Given the description of an element on the screen output the (x, y) to click on. 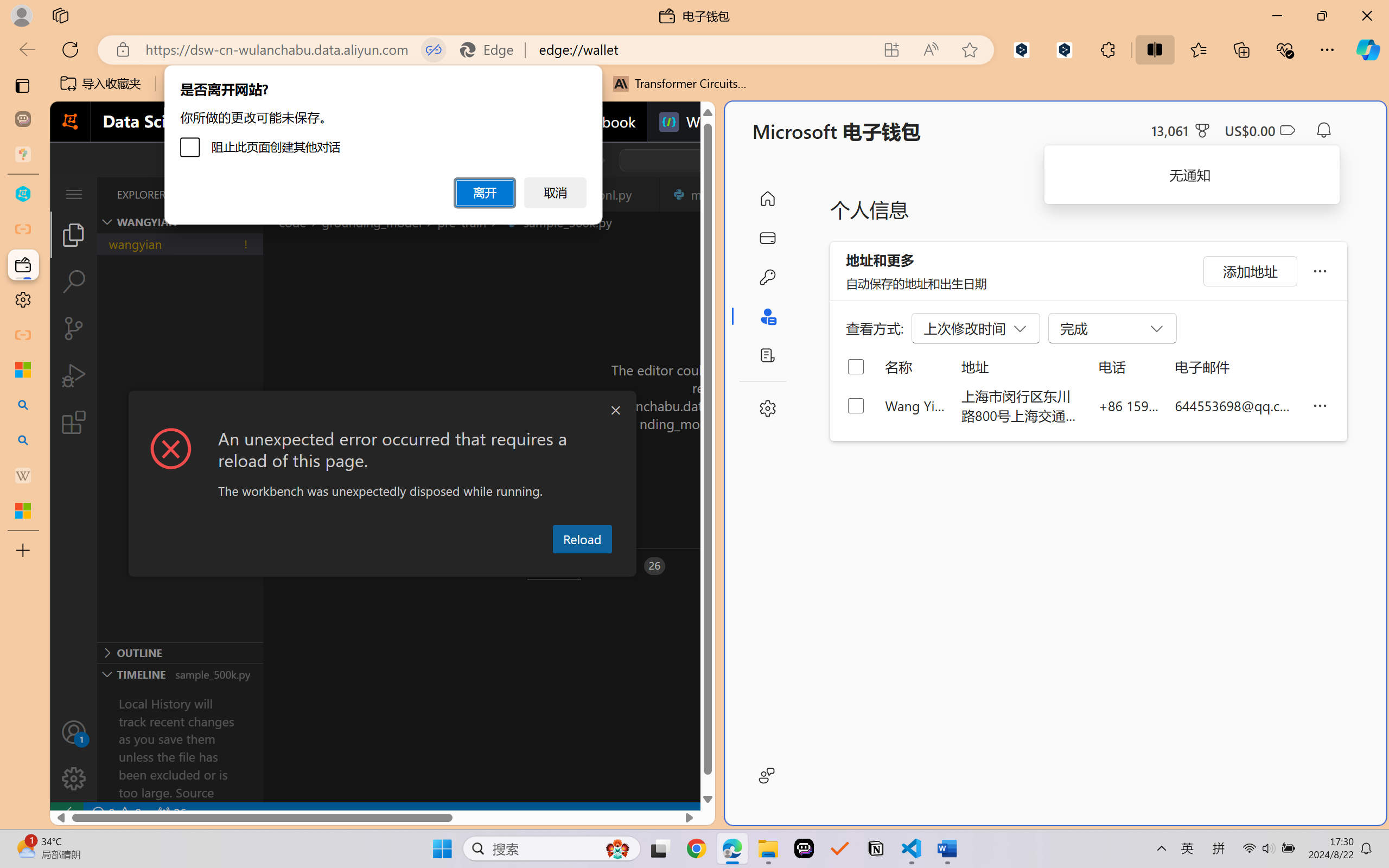
Extensions (Ctrl+Shift+X) (73, 422)
Outline Section (179, 652)
Close Dialog (615, 410)
